Given the description of an element on the screen output the (x, y) to click on. 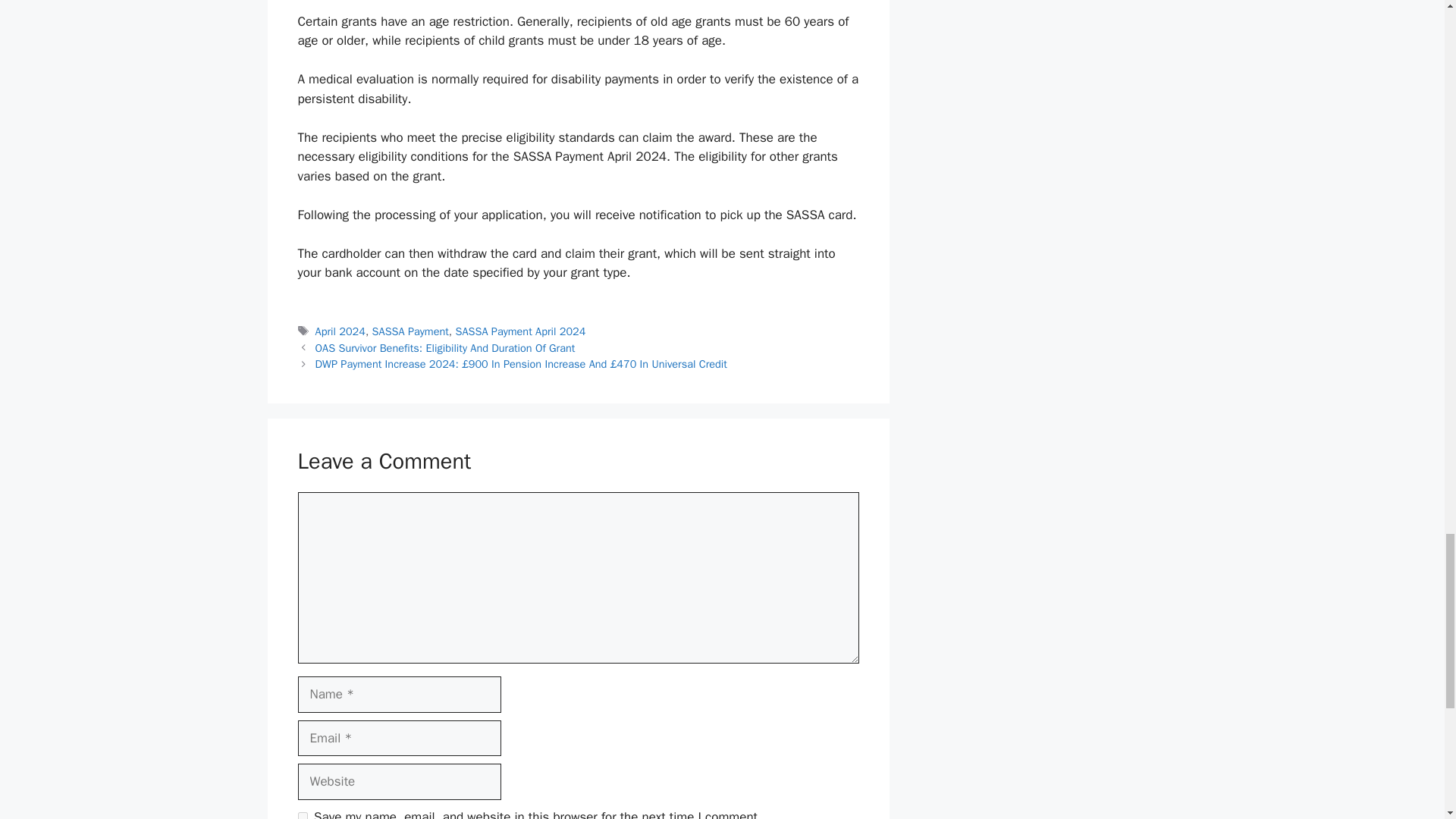
yes (302, 815)
April 2024 (340, 331)
SASSA Payment April 2024 (520, 331)
SASSA Payment (410, 331)
OAS Survivor Benefits: Eligibility And Duration Of Grant (445, 347)
